Given the description of an element on the screen output the (x, y) to click on. 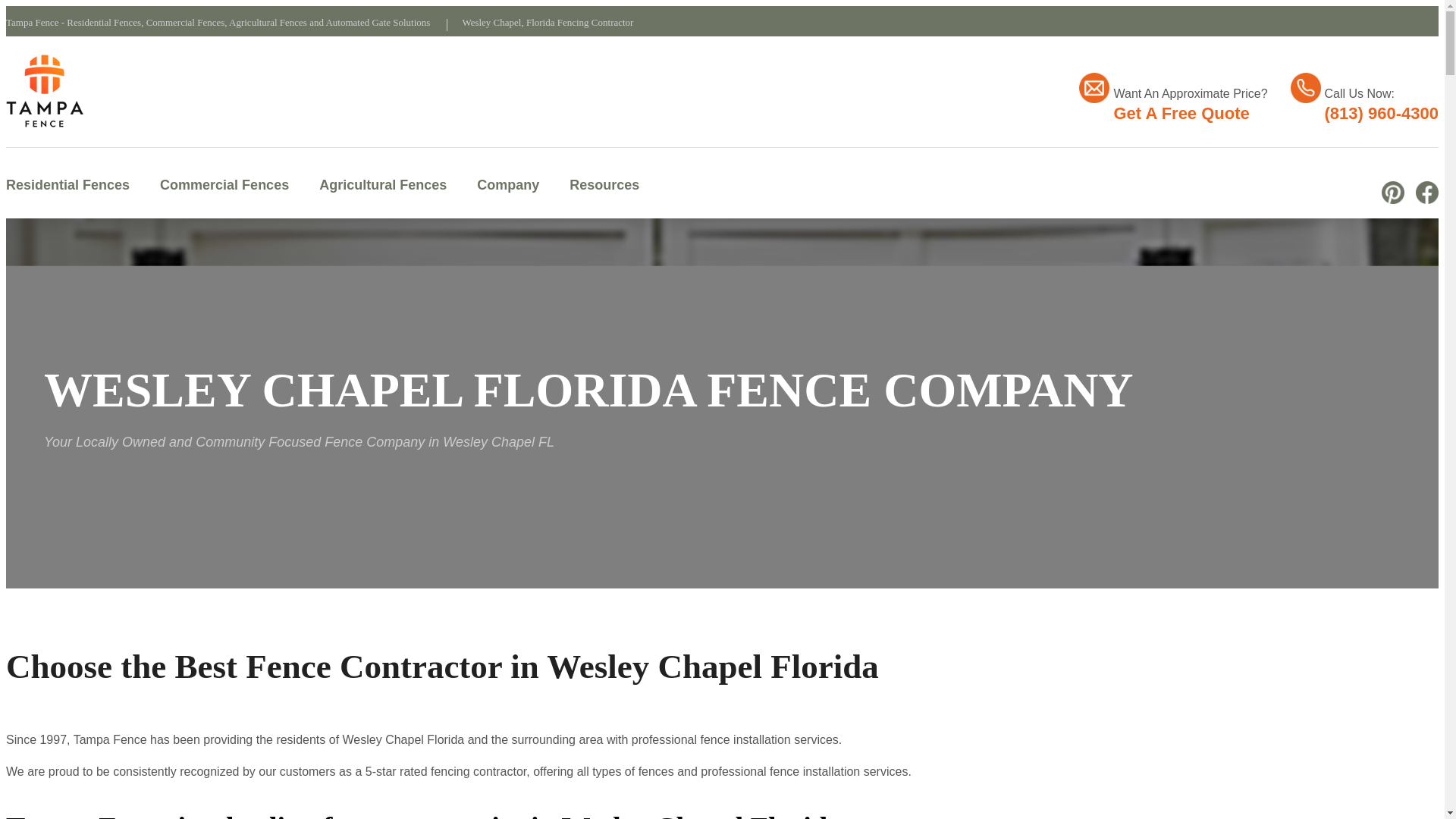
Residential Fences (67, 184)
Get A Free Quote (1181, 113)
Agricultural Fences (382, 184)
Commercial Fences (224, 184)
Resources (604, 184)
Company (507, 184)
